Given the description of an element on the screen output the (x, y) to click on. 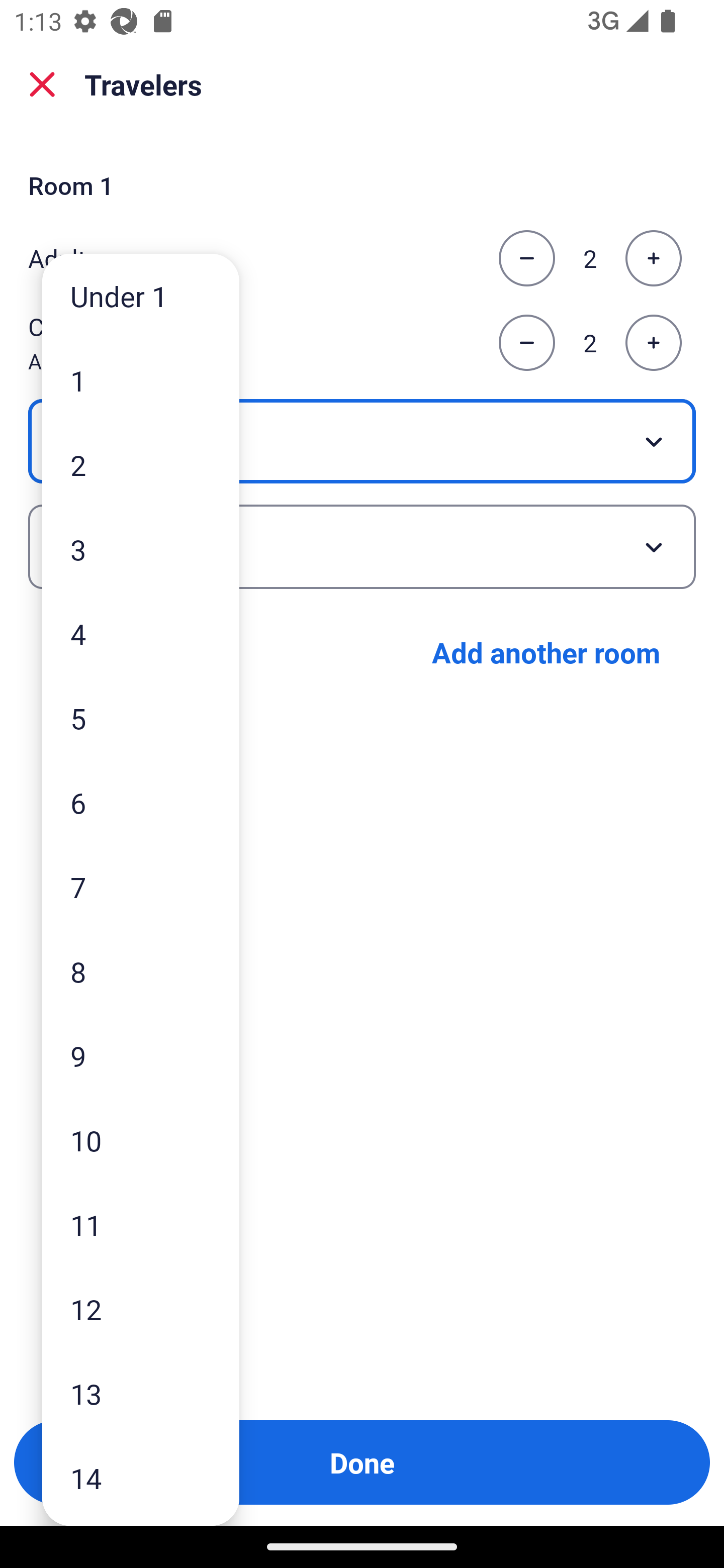
Under 1 (140, 296)
1 (140, 380)
2 (140, 464)
3 (140, 548)
4 (140, 633)
5 (140, 717)
6 (140, 802)
7 (140, 887)
8 (140, 970)
9 (140, 1054)
10 (140, 1139)
11 (140, 1224)
12 (140, 1308)
13 (140, 1393)
14 (140, 1478)
